Given the description of an element on the screen output the (x, y) to click on. 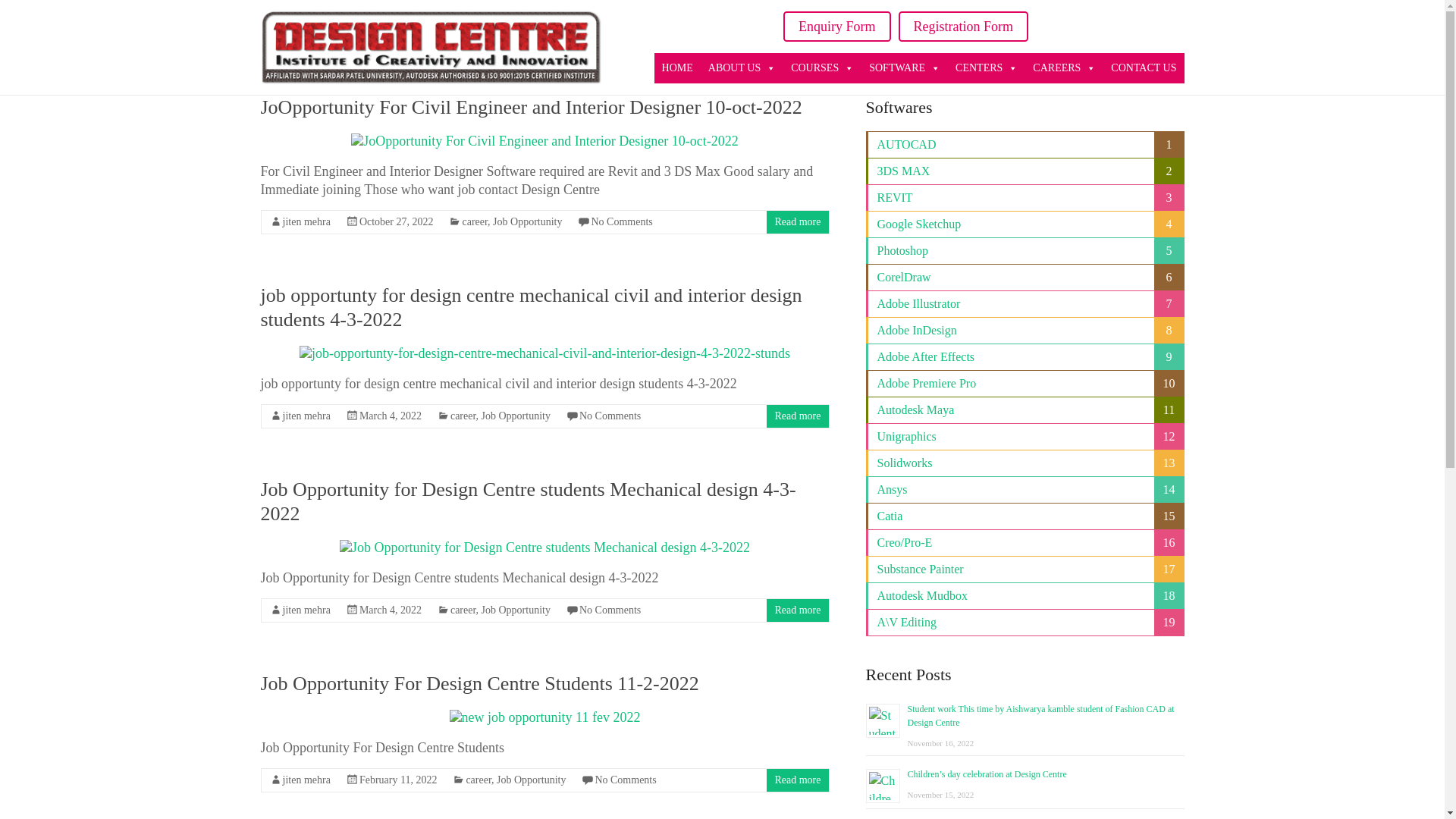
4:50 am (390, 609)
Job Opportunity For Design Centre Students 11-2-2022 (479, 683)
SOFTWARE (904, 68)
4:54 am (390, 415)
ABOUT US (741, 65)
Job Opportunity For Design Centre Students 11-2-2022 (544, 717)
11:46 am (396, 221)
Registration Form (958, 24)
Design Centre (297, 34)
